Given the description of an element on the screen output the (x, y) to click on. 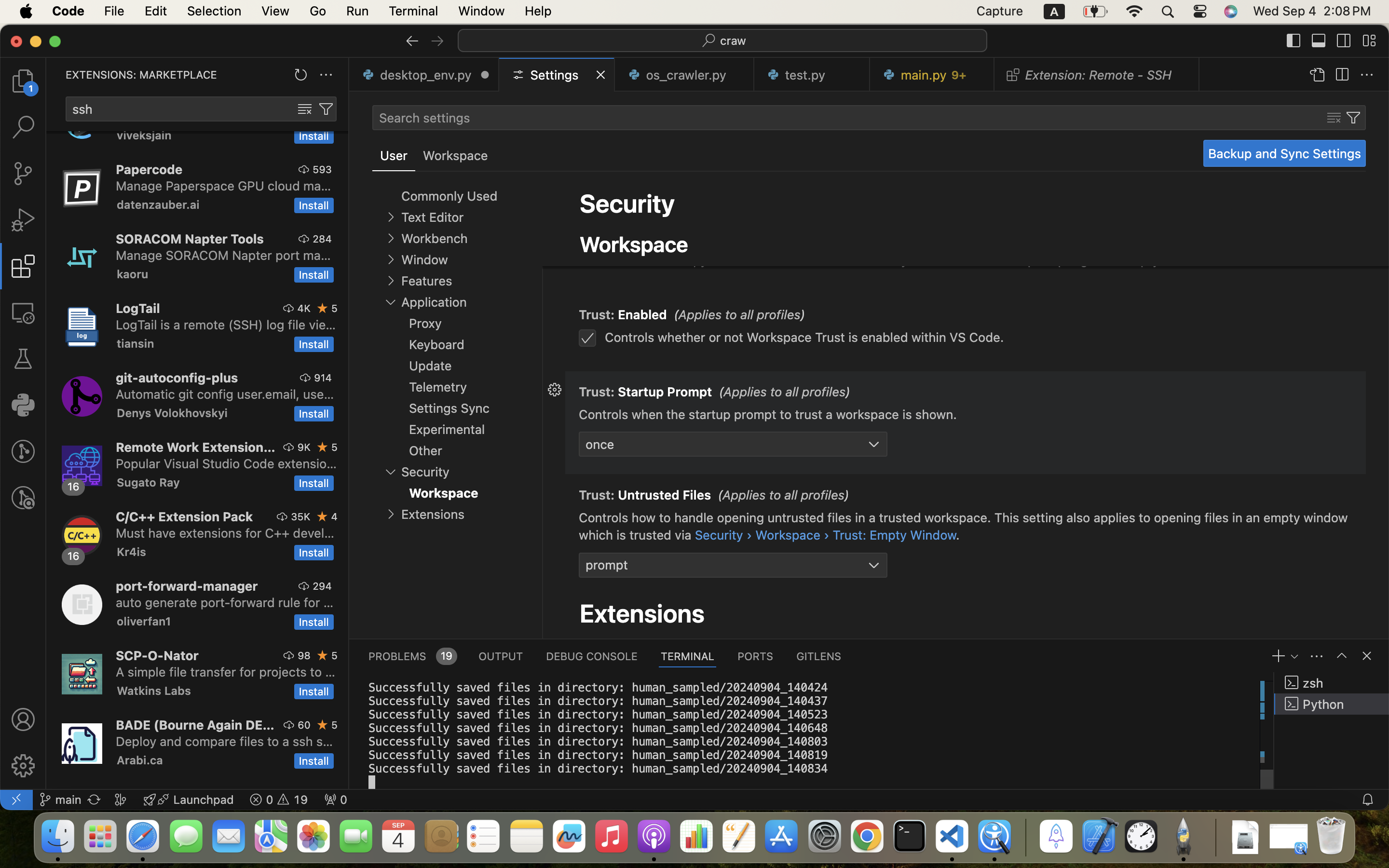
Launchpad   Element type: AXButton (188, 799)
Trust: Element type: AXStaticText (598, 220)
Commonly Used Element type: AXStaticText (449, 196)
 Element type: AXStaticText (22, 765)
Telemetry Element type: AXStaticText (437, 386)
